Given the description of an element on the screen output the (x, y) to click on. 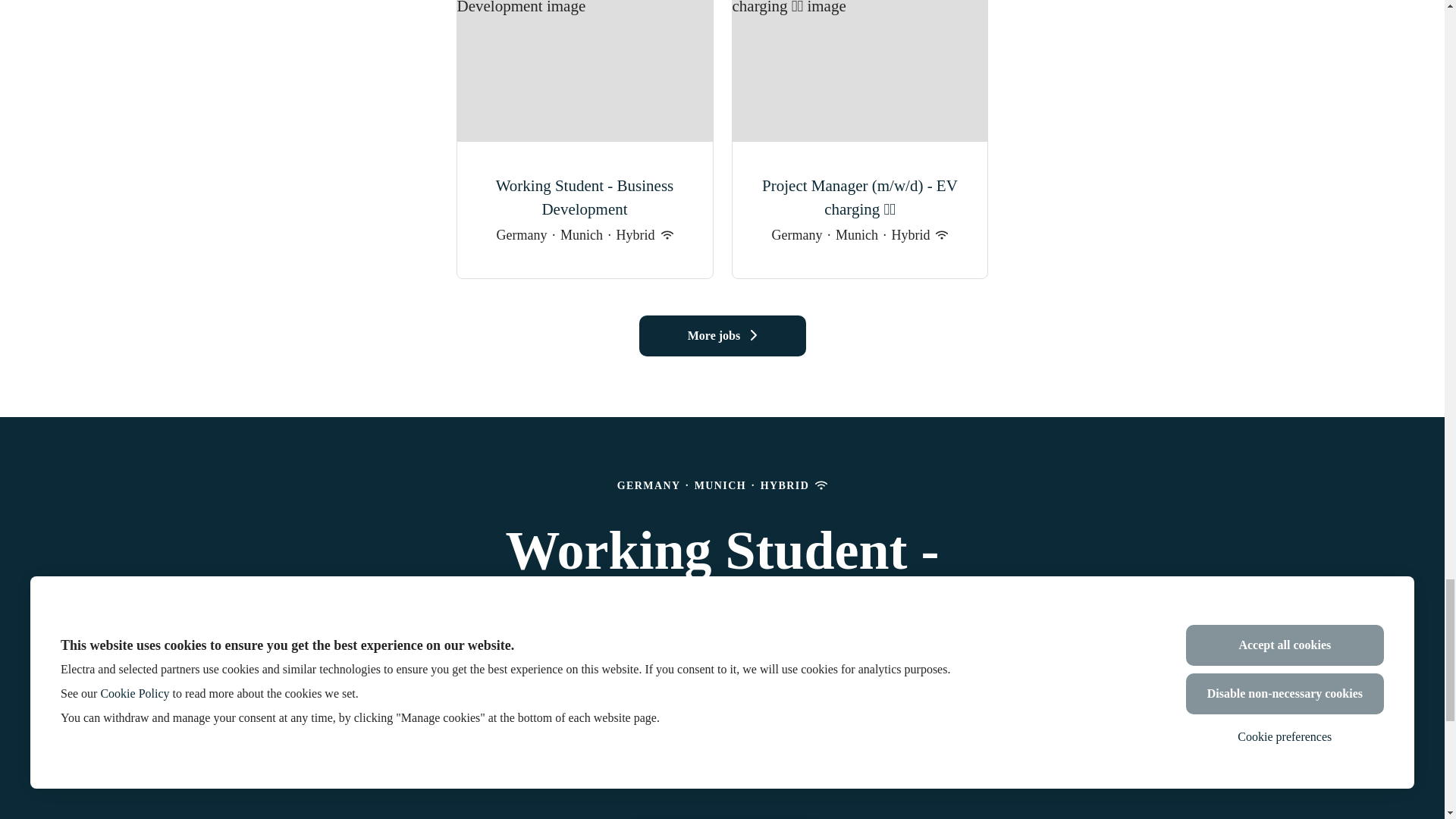
More jobs (722, 335)
Working Student - Business Development (584, 197)
